Given the description of an element on the screen output the (x, y) to click on. 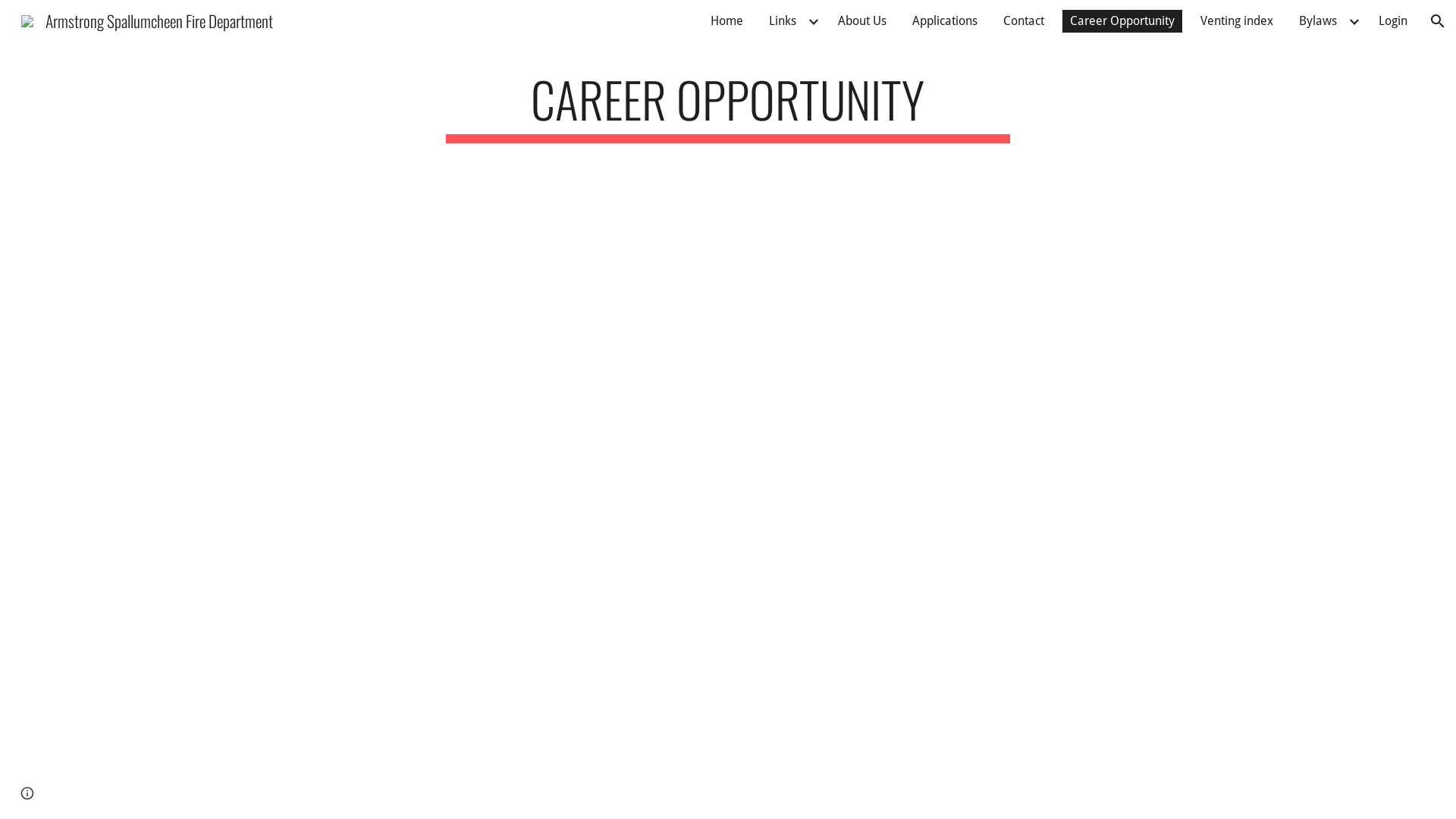
Expand/Collapse Element type: hover (812, 20)
Expand/Collapse Element type: hover (1353, 20)
Career Opportunity Element type: text (1122, 20)
Venting index Element type: text (1236, 20)
Home Element type: text (726, 20)
Contact Element type: text (1023, 20)
Links Element type: text (782, 20)
Armstrong Spallumcheen Fire Department Element type: text (147, 18)
Applications Element type: text (944, 20)
Login Element type: text (1393, 20)
About Us Element type: text (862, 20)
Bylaws Element type: text (1317, 20)
